Given the description of an element on the screen output the (x, y) to click on. 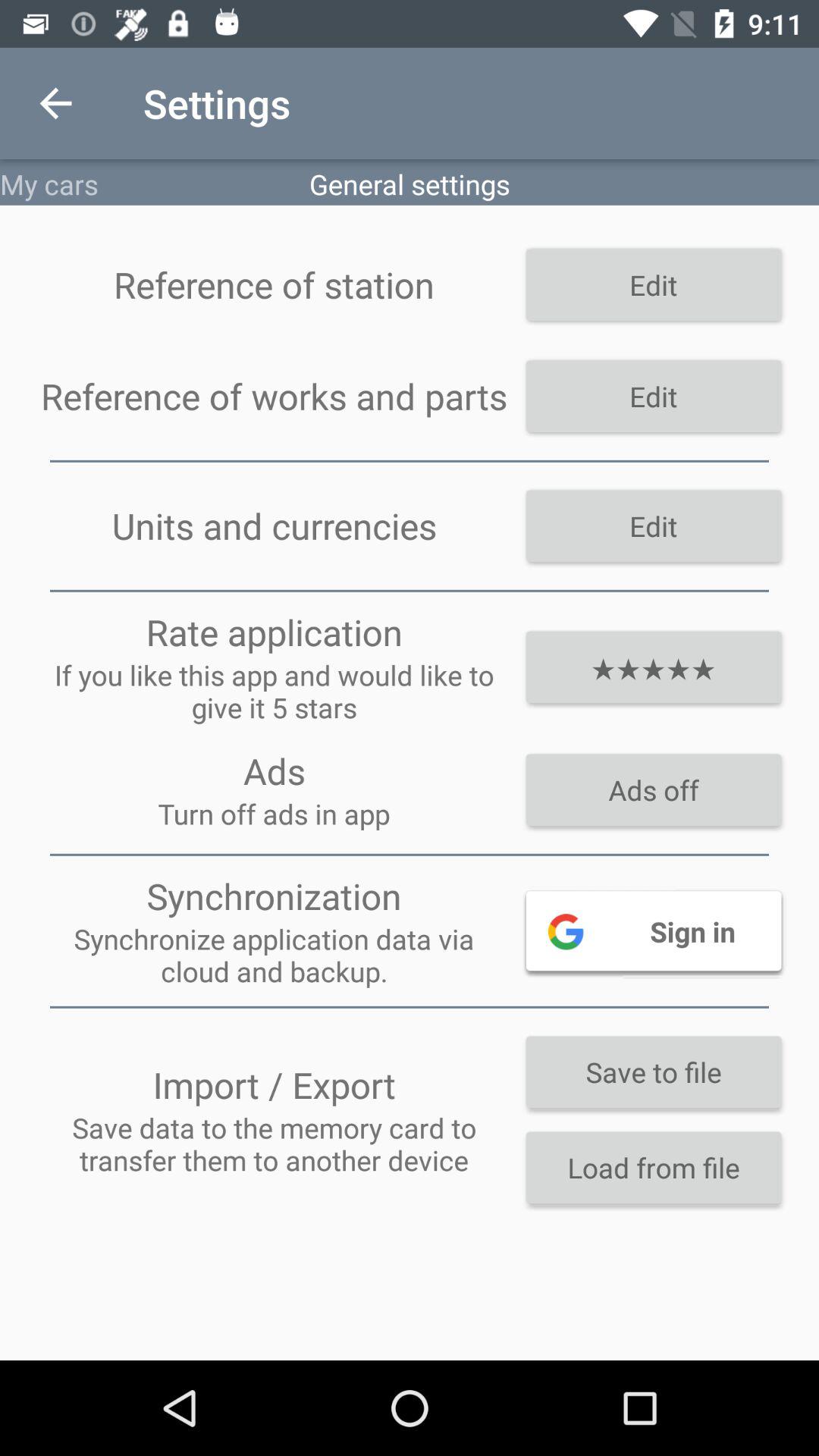
press sign in (653, 930)
